Given the description of an element on the screen output the (x, y) to click on. 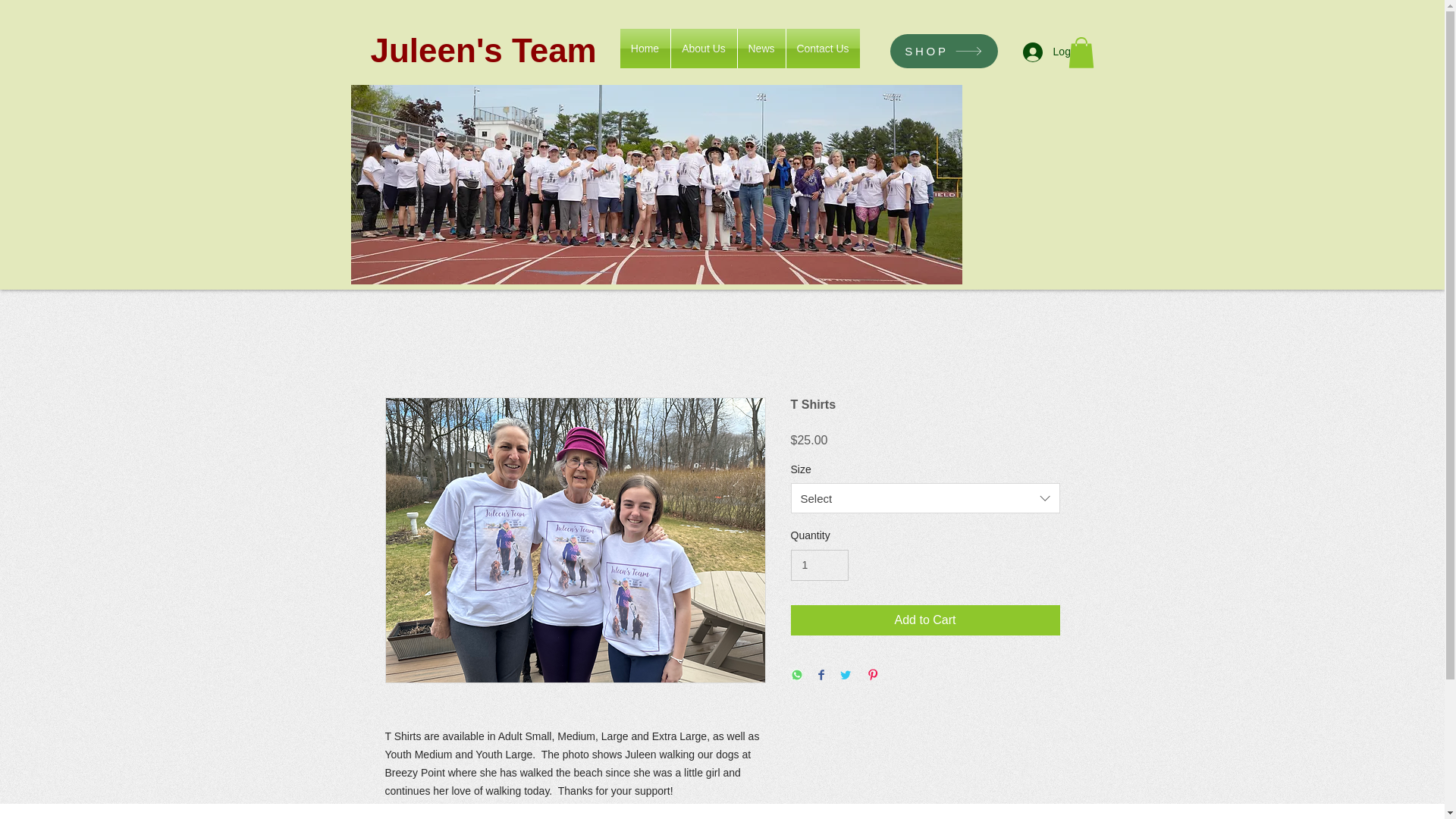
Select (924, 498)
Home (644, 47)
SHOP (943, 50)
1 (818, 564)
Log In (1052, 51)
About Us (702, 47)
Add to Cart (924, 620)
Contact Us (822, 47)
News (760, 47)
start of wak.jpg (655, 184)
